Given the description of an element on the screen output the (x, y) to click on. 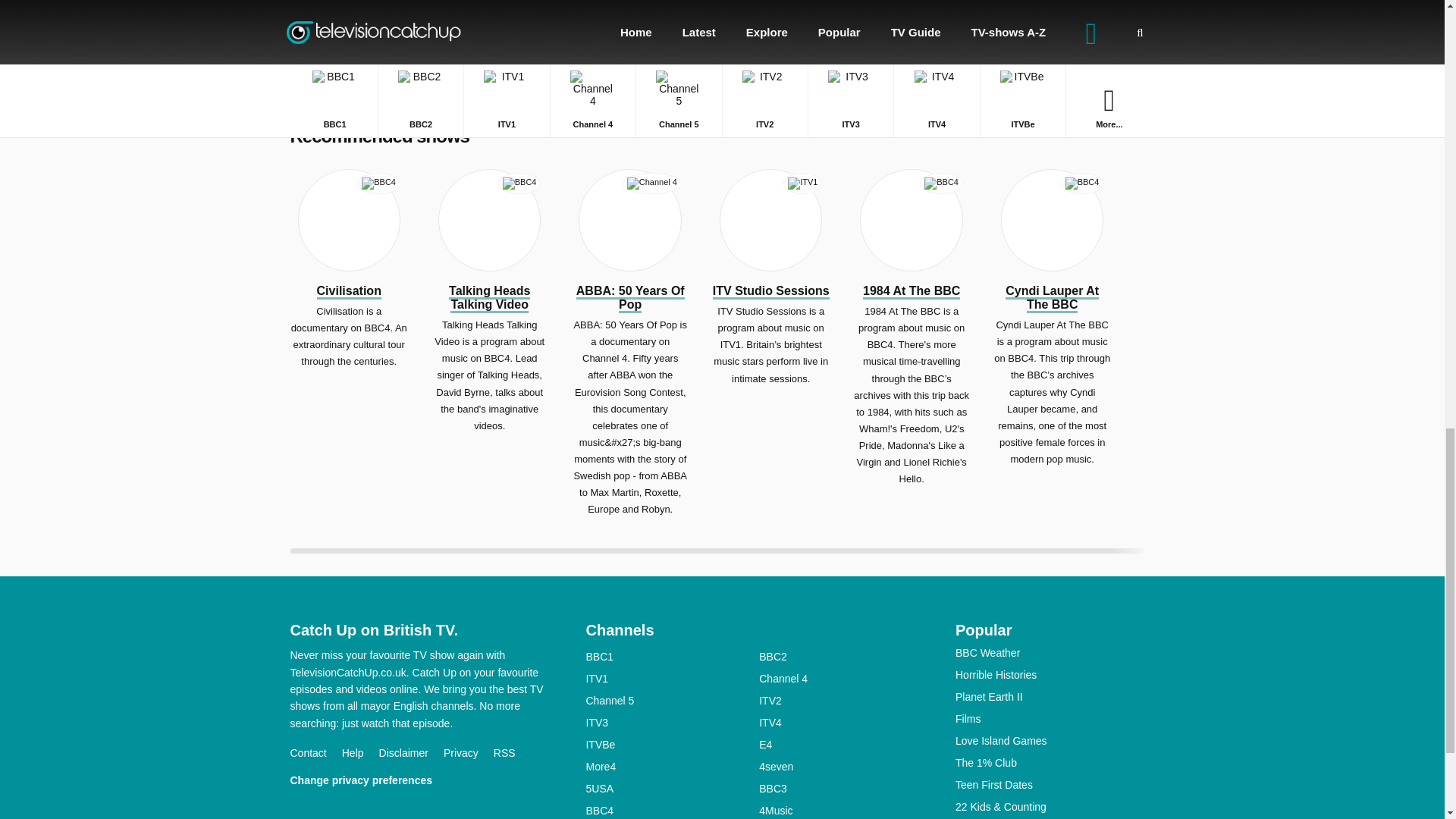
Set an alarm (722, 33)
